Given the description of an element on the screen output the (x, y) to click on. 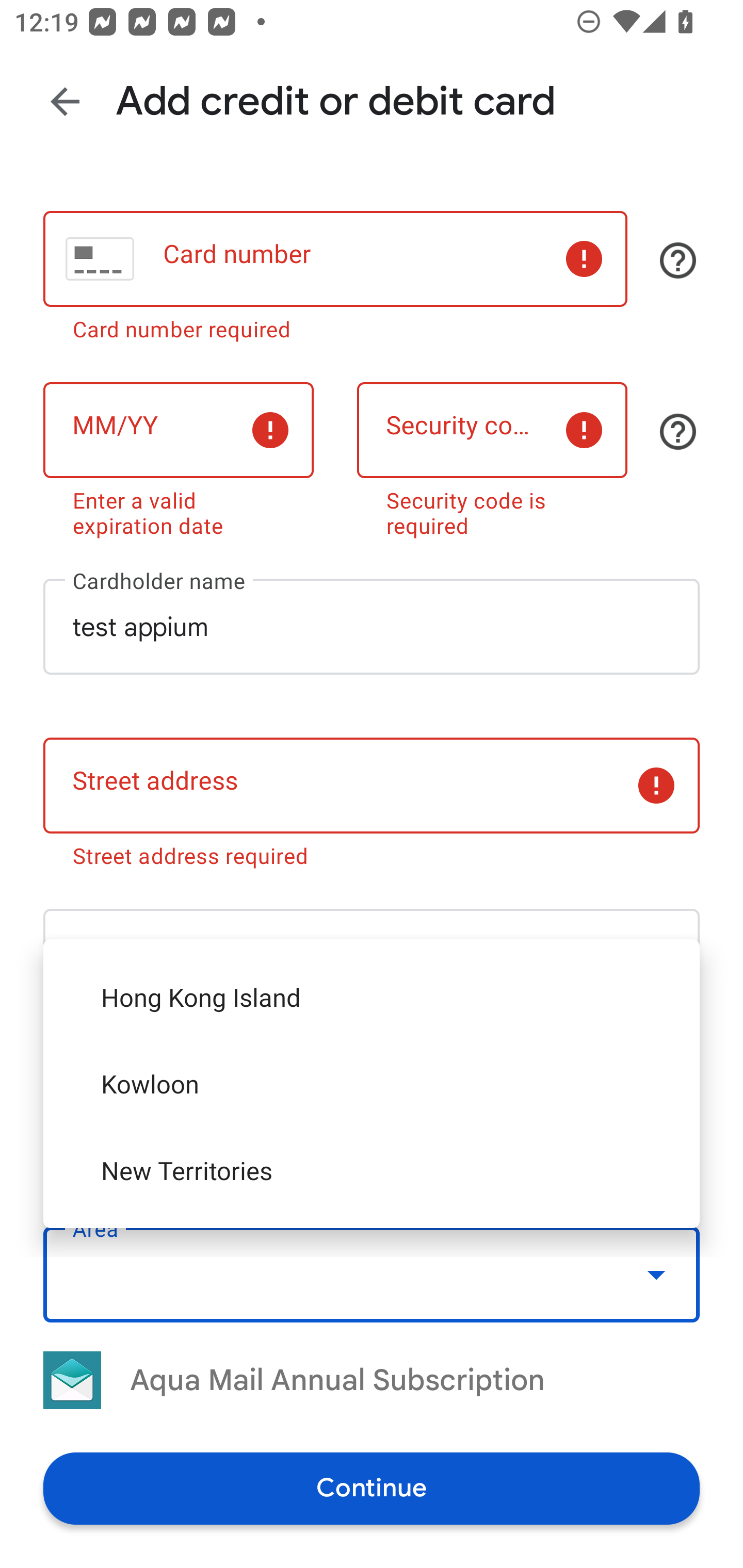
Back (64, 101)
Card number (335, 259)
Button, shows cards that are accepted for payment (677, 260)
Security code Error Security code is required (492, 456)
Expiration date, 2 digit month, 2 digit year (178, 430)
Security code (492, 430)
Security code help (677, 431)
test appium (371, 626)
Street address (371, 785)
Area (371, 1273)
Show dropdown menu (655, 1273)
Continue (371, 1487)
